Given the description of an element on the screen output the (x, y) to click on. 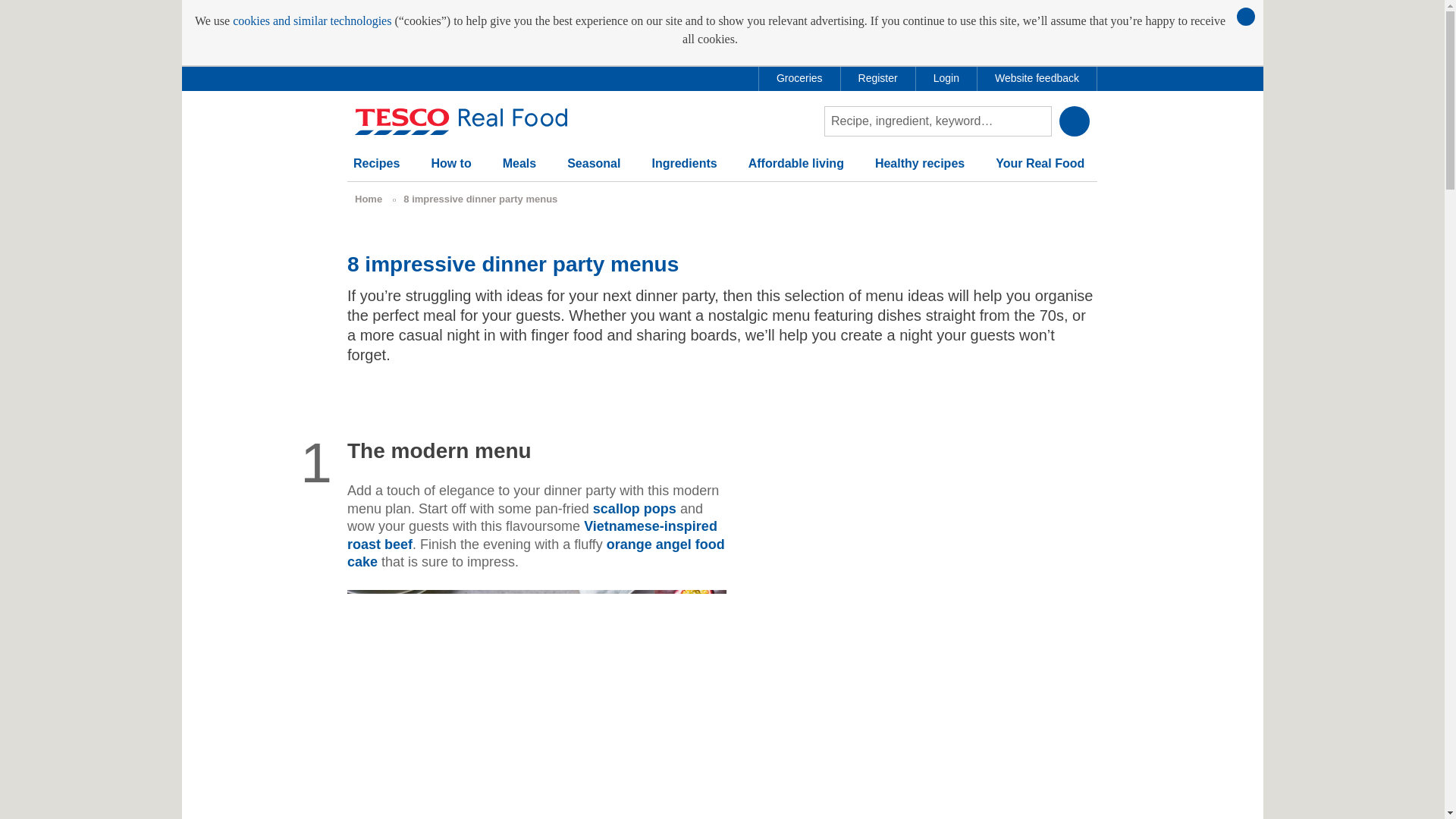
Register (878, 78)
8 impressive dinner party menus (480, 198)
Recipes (376, 169)
cookies and similar technologies (311, 20)
Home (368, 198)
Search (1074, 121)
Close cookie policy banner (1245, 16)
Search (1074, 121)
Groceries (799, 78)
Website feedback (1036, 78)
Login (945, 78)
